Given the description of an element on the screen output the (x, y) to click on. 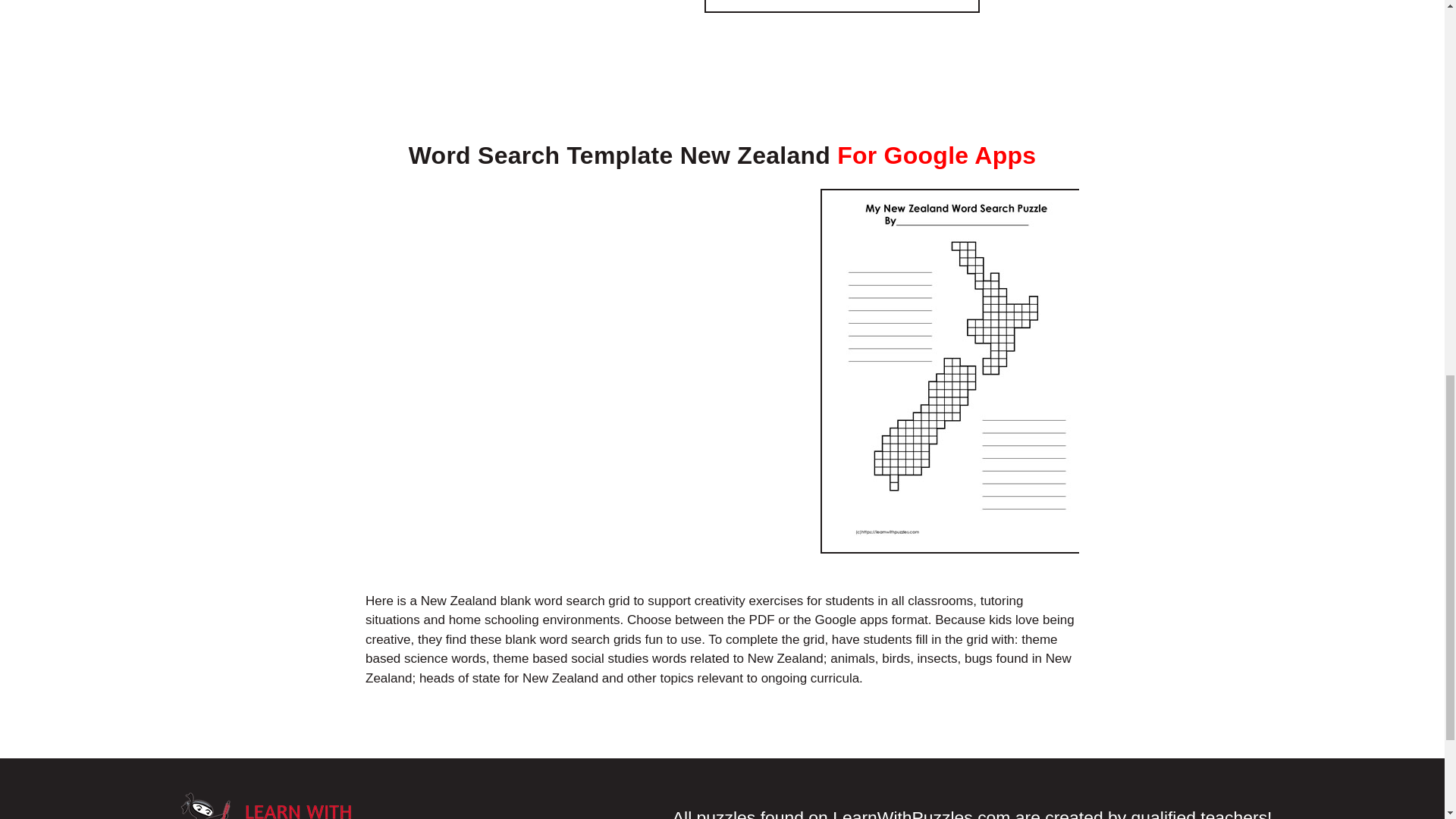
Word Search Template New Zealand (842, 3)
Advertisement (491, 52)
Word Search Template New Zealand For Google Apps (721, 155)
